Given the description of an element on the screen output the (x, y) to click on. 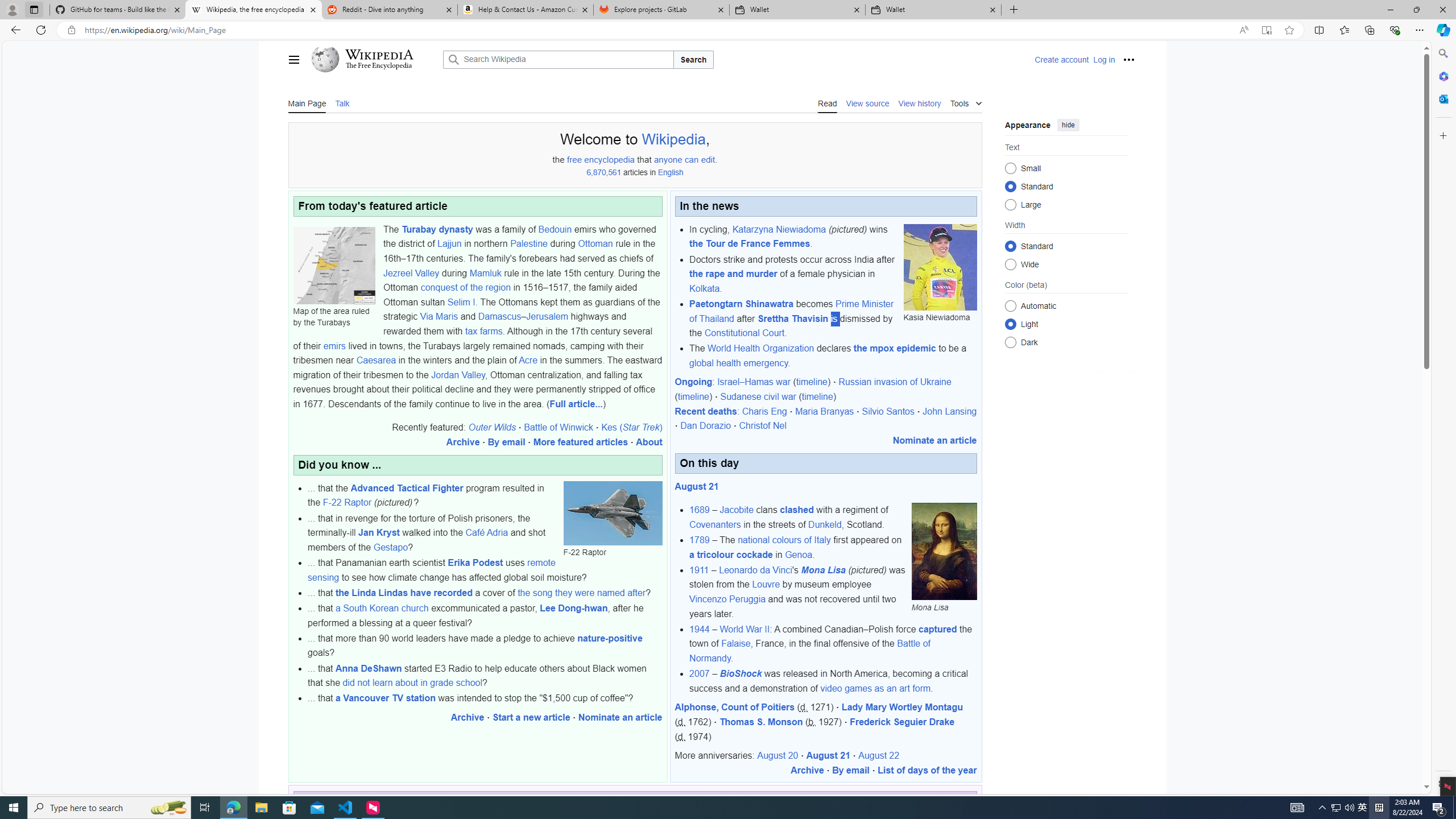
Mona Lisa (943, 551)
the mpox epidemic (894, 348)
1944 (699, 628)
6,870,561 (603, 172)
Battle of Normandy (809, 650)
Large (1010, 204)
Leonardo da Vinci (755, 569)
View history (919, 102)
Frederick Seguier Drake (902, 721)
